Given the description of an element on the screen output the (x, y) to click on. 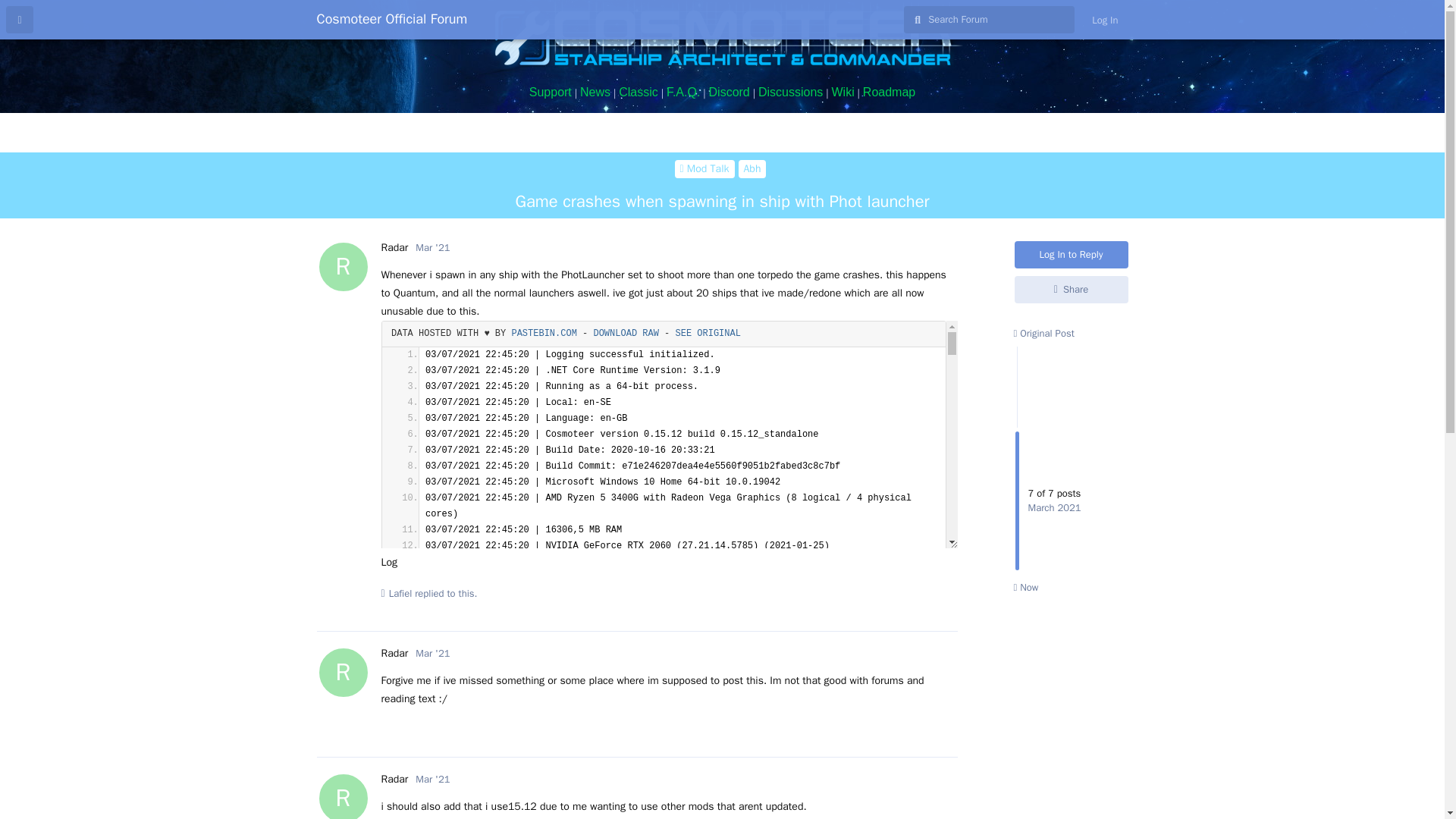
Discord (729, 91)
Cosmoteer Official Forum (392, 18)
Classic (638, 91)
Mar '21 (431, 246)
Wiki (842, 91)
Roadmap (889, 91)
News (594, 91)
Share (1071, 289)
Discussion and support for Abh Mod. (752, 168)
Discussions (790, 91)
Log In (1103, 19)
Log In to Reply (393, 653)
Share (1071, 254)
Monday, March 8, 2021 5:55 AM (1071, 289)
